Given the description of an element on the screen output the (x, y) to click on. 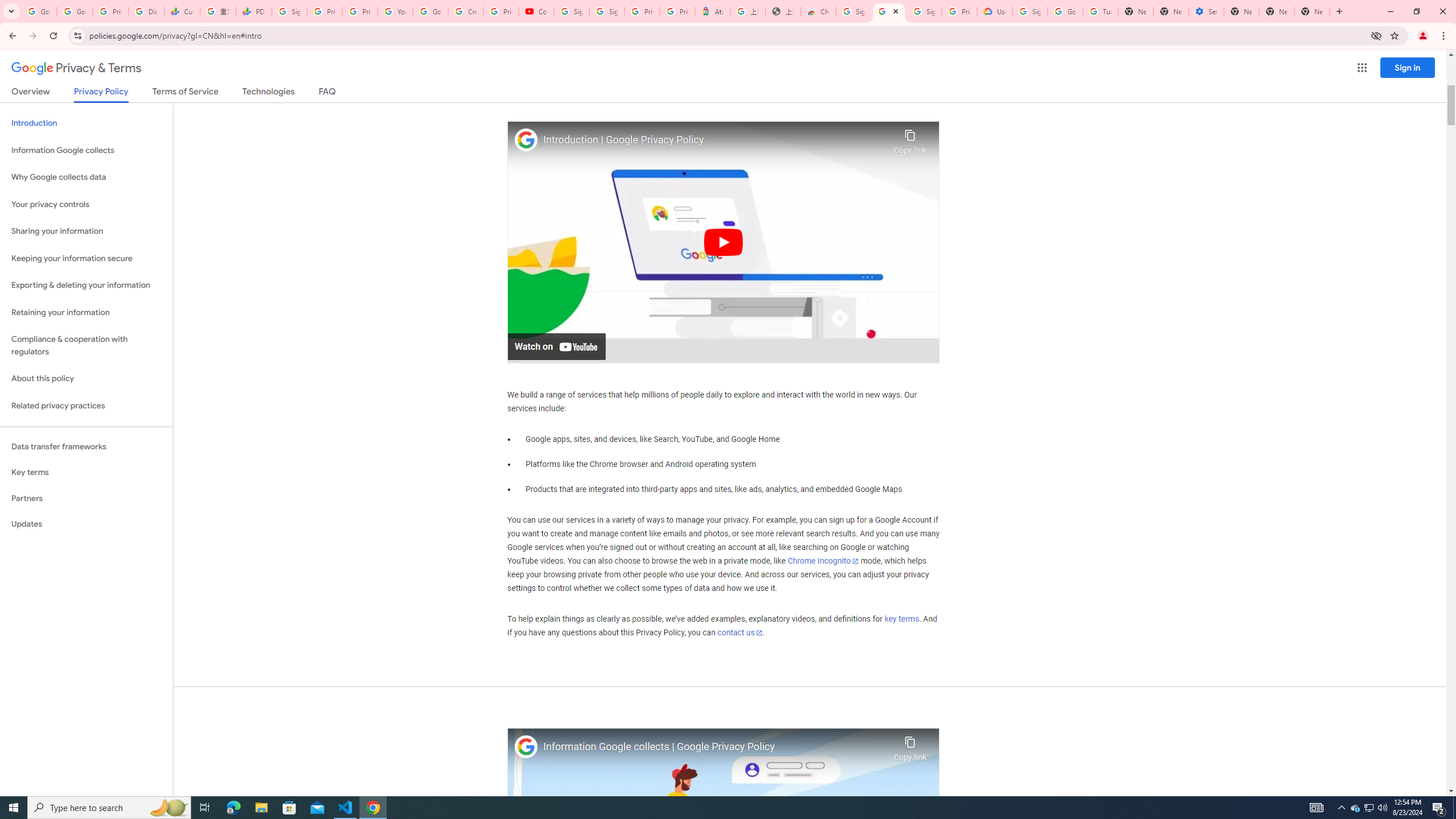
Introduction | Google Privacy Policy (715, 139)
Compliance & cooperation with regulators (86, 345)
Content Creator Programs & Opportunities - YouTube Creators (536, 11)
New Tab (1135, 11)
Watch on YouTube (556, 346)
About this policy (86, 379)
YouTube (394, 11)
Related privacy practices (86, 405)
